Given the description of an element on the screen output the (x, y) to click on. 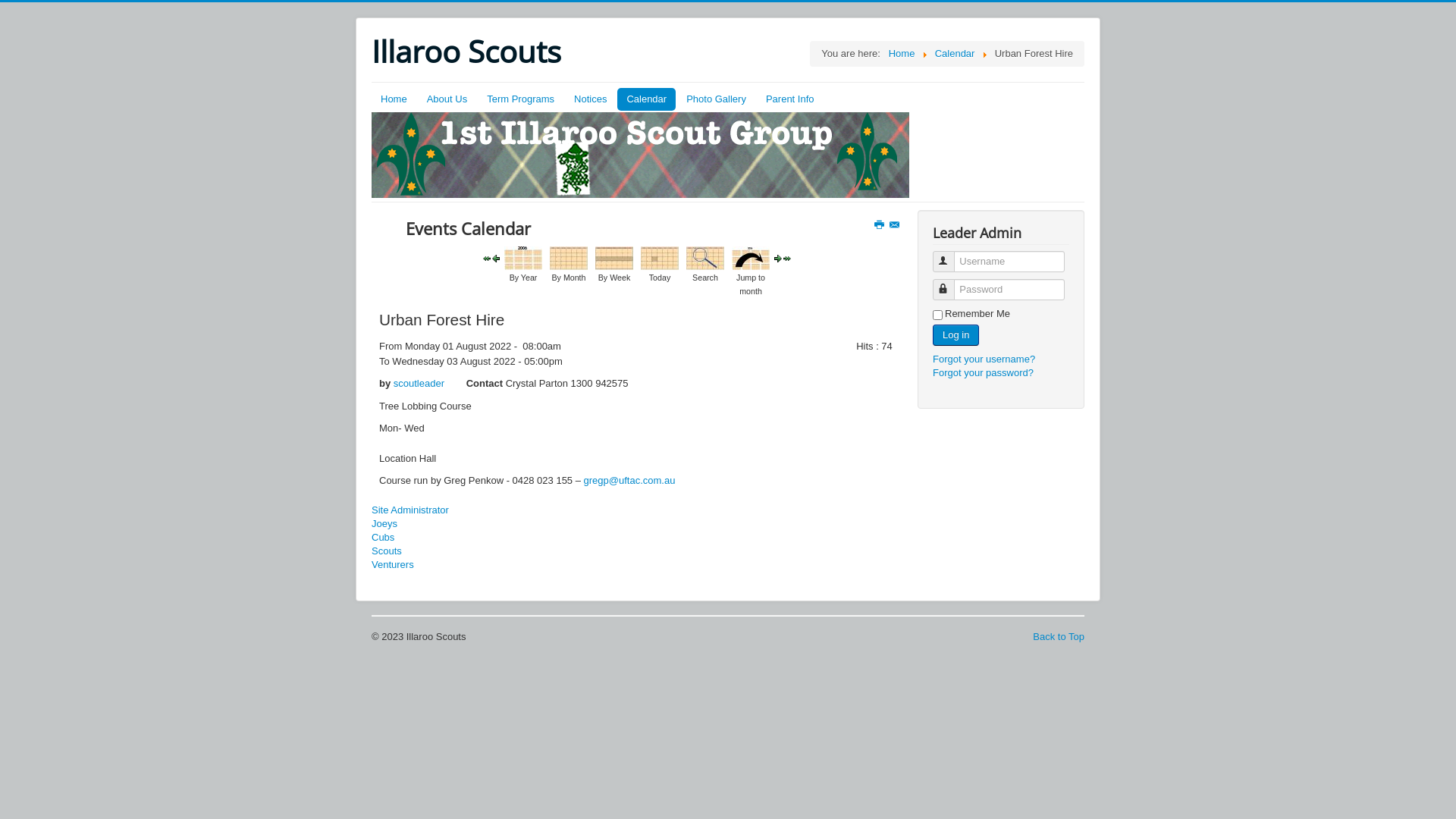
Home Element type: text (393, 98)
Site Administrator Element type: text (636, 510)
Calendar Element type: text (955, 53)
scoutleader Element type: text (418, 383)
Photo Gallery Element type: text (716, 98)
Joeys Element type: text (636, 523)
Home Element type: text (901, 53)
By Week Element type: hover (614, 257)
Scouts Element type: text (636, 551)
Next month Element type: hover (786, 257)
Notices Element type: text (589, 98)
EMAIL Element type: hover (895, 225)
Term Programs Element type: text (520, 98)
Back to Top Element type: text (1058, 636)
Search Element type: hover (705, 257)
Log in Element type: text (955, 334)
Cubs Element type: text (636, 537)
Forgot your username? Element type: text (983, 358)
By Month Element type: hover (568, 257)
Today Element type: hover (659, 257)
Banner Element type: hover (640, 154)
Print Element type: hover (879, 225)
gregp@uftac.com.au Element type: text (629, 480)
Calendar Element type: text (646, 98)
Parent Info Element type: text (789, 98)
Jump to month Element type: hover (750, 257)
By Year Element type: hover (523, 257)
Forgot your password? Element type: text (982, 372)
About Us Element type: text (446, 98)
Venturers Element type: text (636, 564)
Previous day Element type: hover (495, 257)
Illaroo Scouts Element type: text (466, 51)
Next day Element type: hover (777, 257)
Previous month Element type: hover (486, 257)
